Given the description of an element on the screen output the (x, y) to click on. 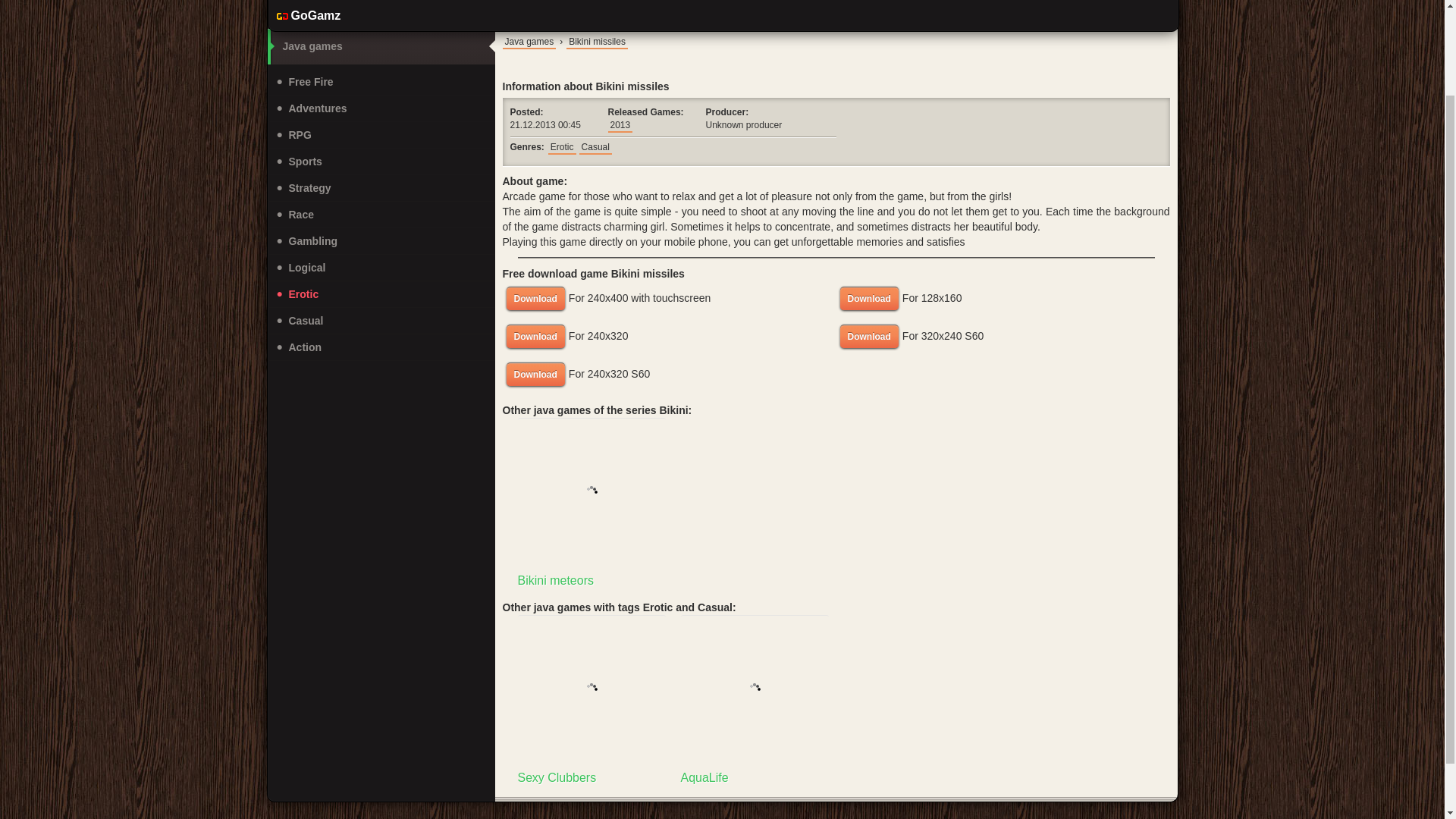
Casual (595, 146)
Gambling (380, 241)
Java games (380, 46)
Erotic (669, 336)
Race (380, 294)
Main page (380, 214)
2013 (380, 13)
RPG (620, 124)
Action (380, 135)
Java games (669, 298)
AquaLife (1003, 336)
